Given the description of an element on the screen output the (x, y) to click on. 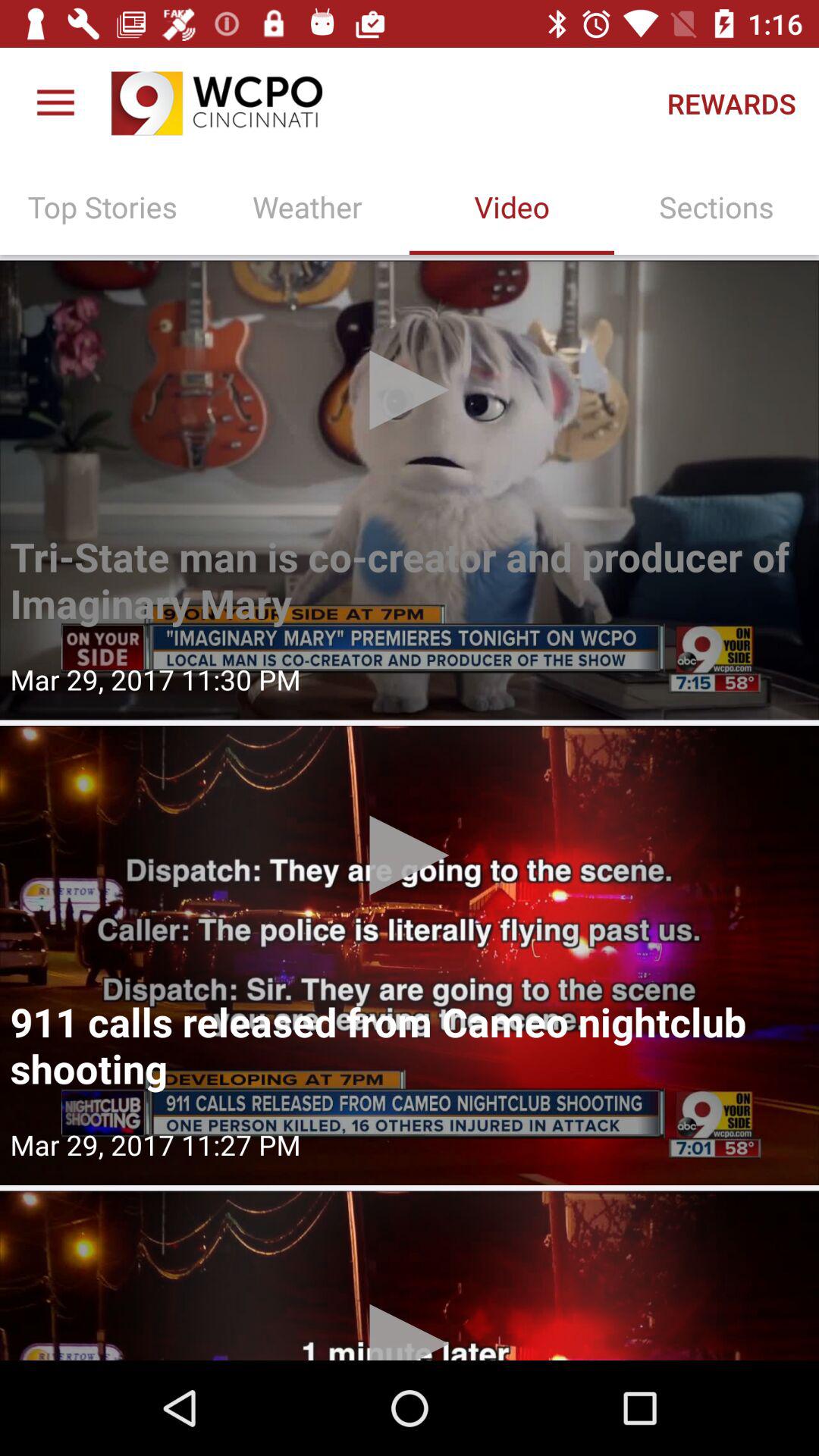
jump until rewards icon (731, 103)
